Given the description of an element on the screen output the (x, y) to click on. 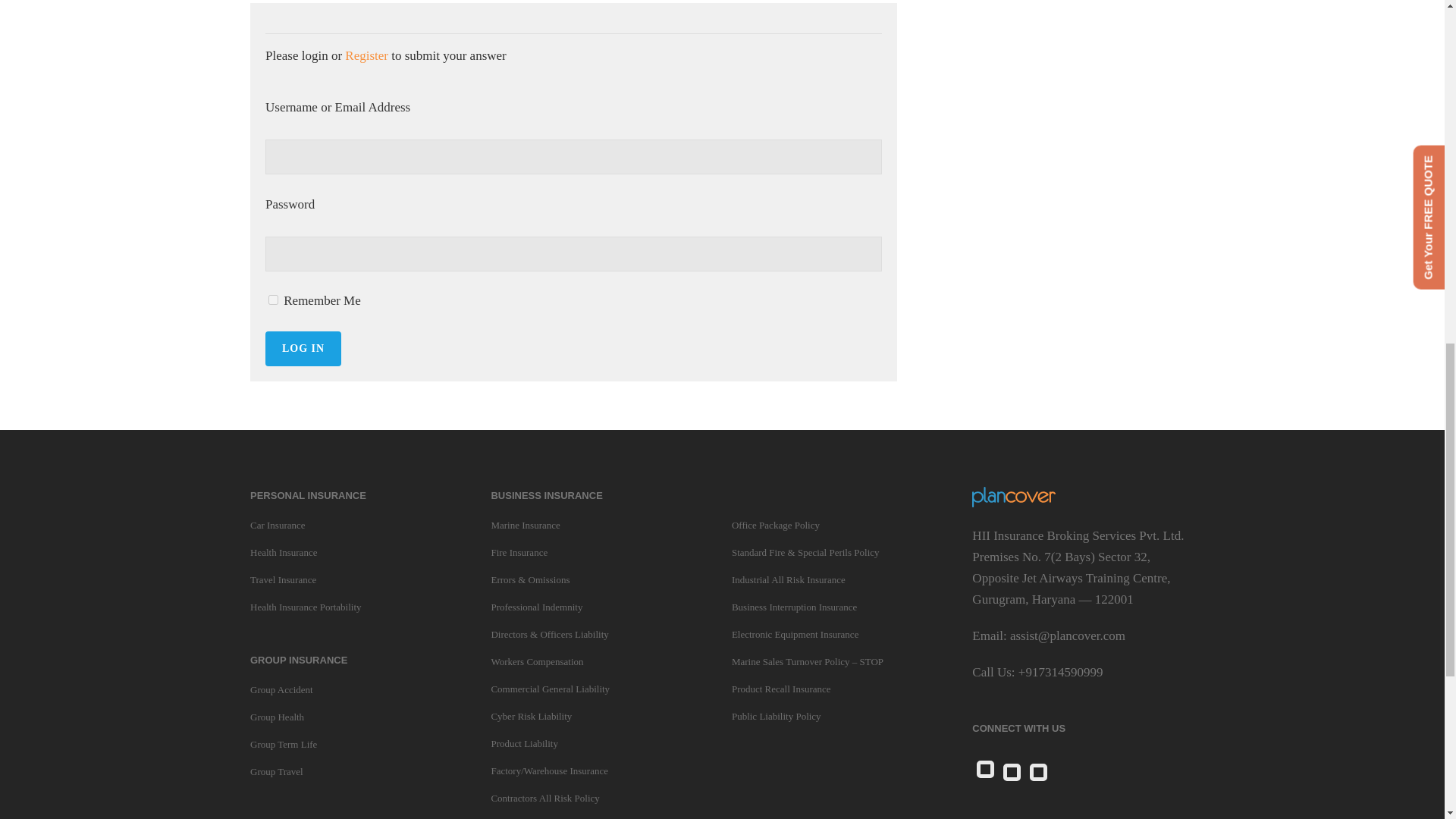
Log In (302, 347)
forever (272, 299)
